Given the description of an element on the screen output the (x, y) to click on. 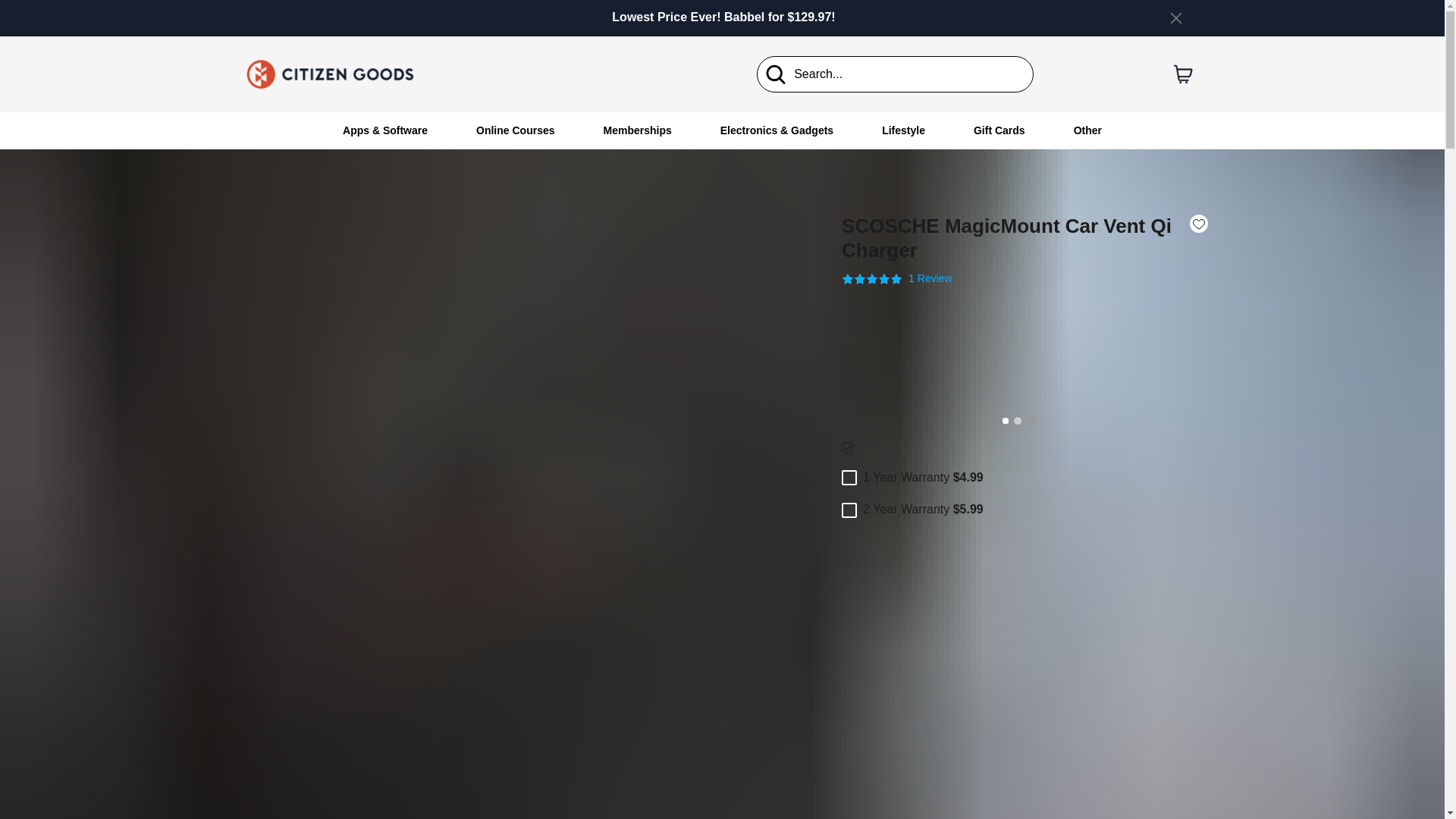
Add to wishlist (1198, 223)
